Given the description of an element on the screen output the (x, y) to click on. 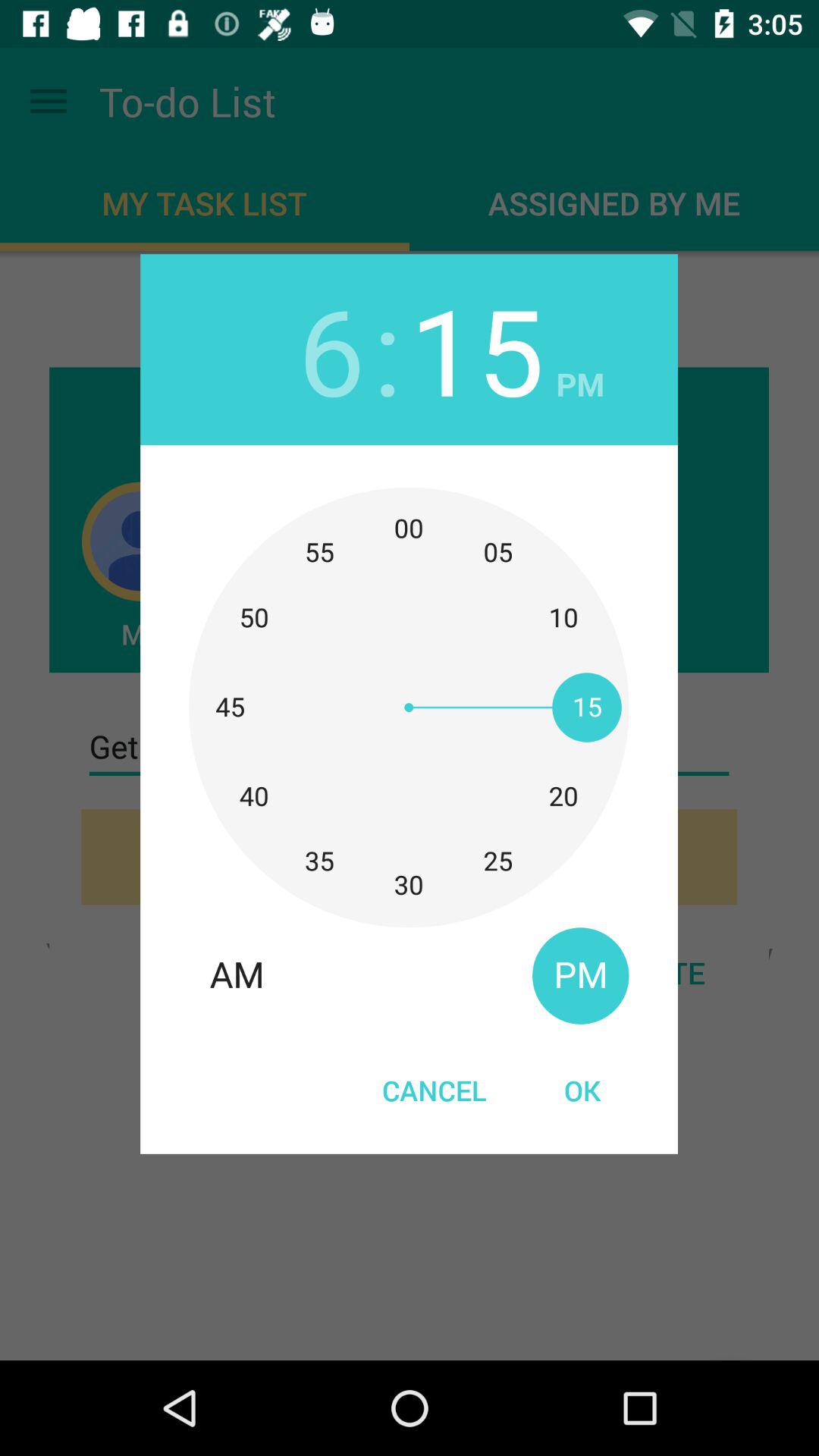
turn off the icon next to the cancel item (582, 1090)
